Given the description of an element on the screen output the (x, y) to click on. 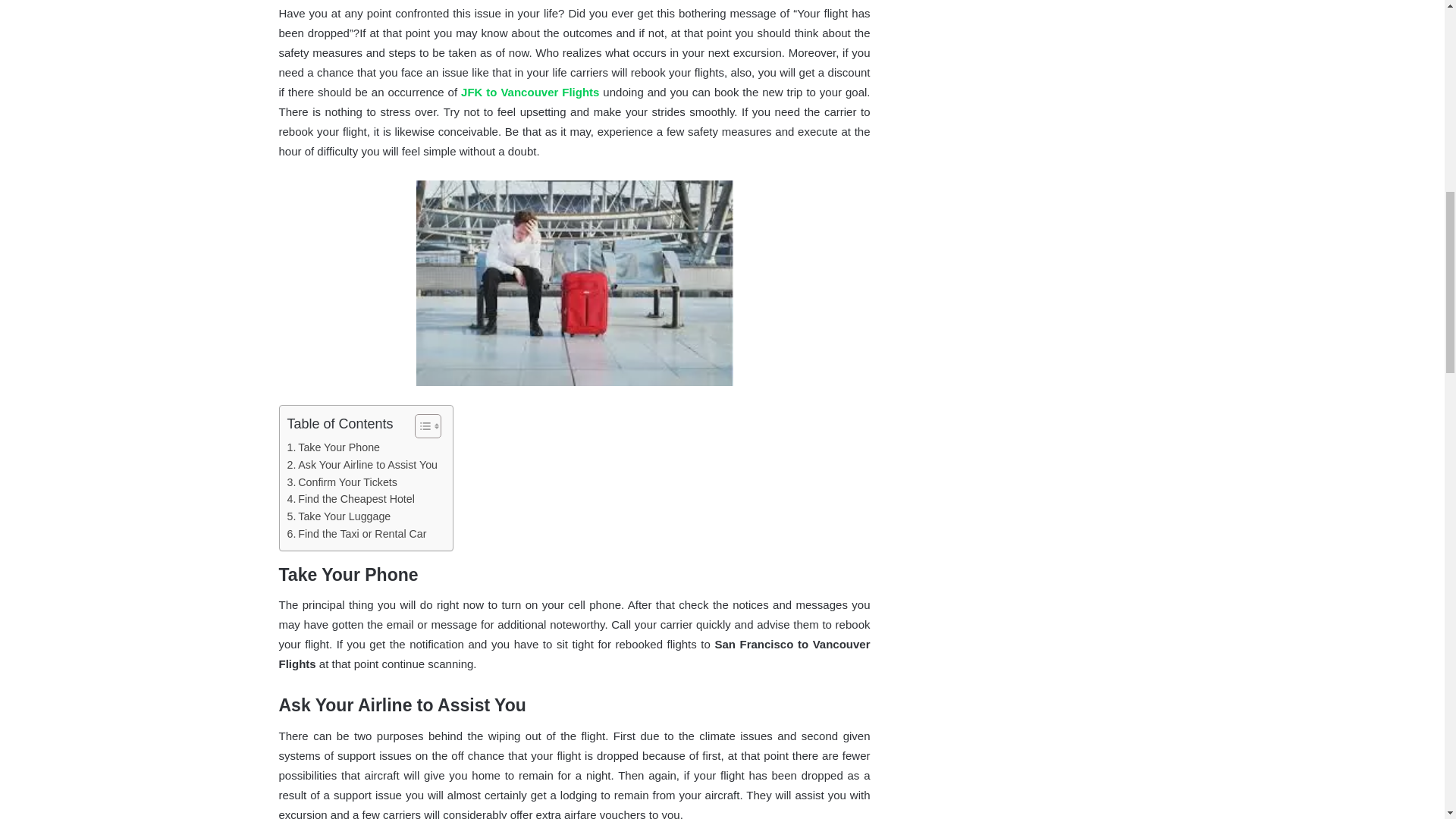
Take Your Luggage (338, 516)
Find the Taxi or Rental Car (356, 533)
Take Your Phone (333, 447)
Find the Cheapest Hotel (349, 498)
Take Your Phone (333, 447)
Ask Your Airline to Assist You (362, 465)
Confirm Your Tickets (341, 482)
JFK to Vancouver Flights (529, 91)
Ask Your Airline to Assist You (362, 465)
